Given the description of an element on the screen output the (x, y) to click on. 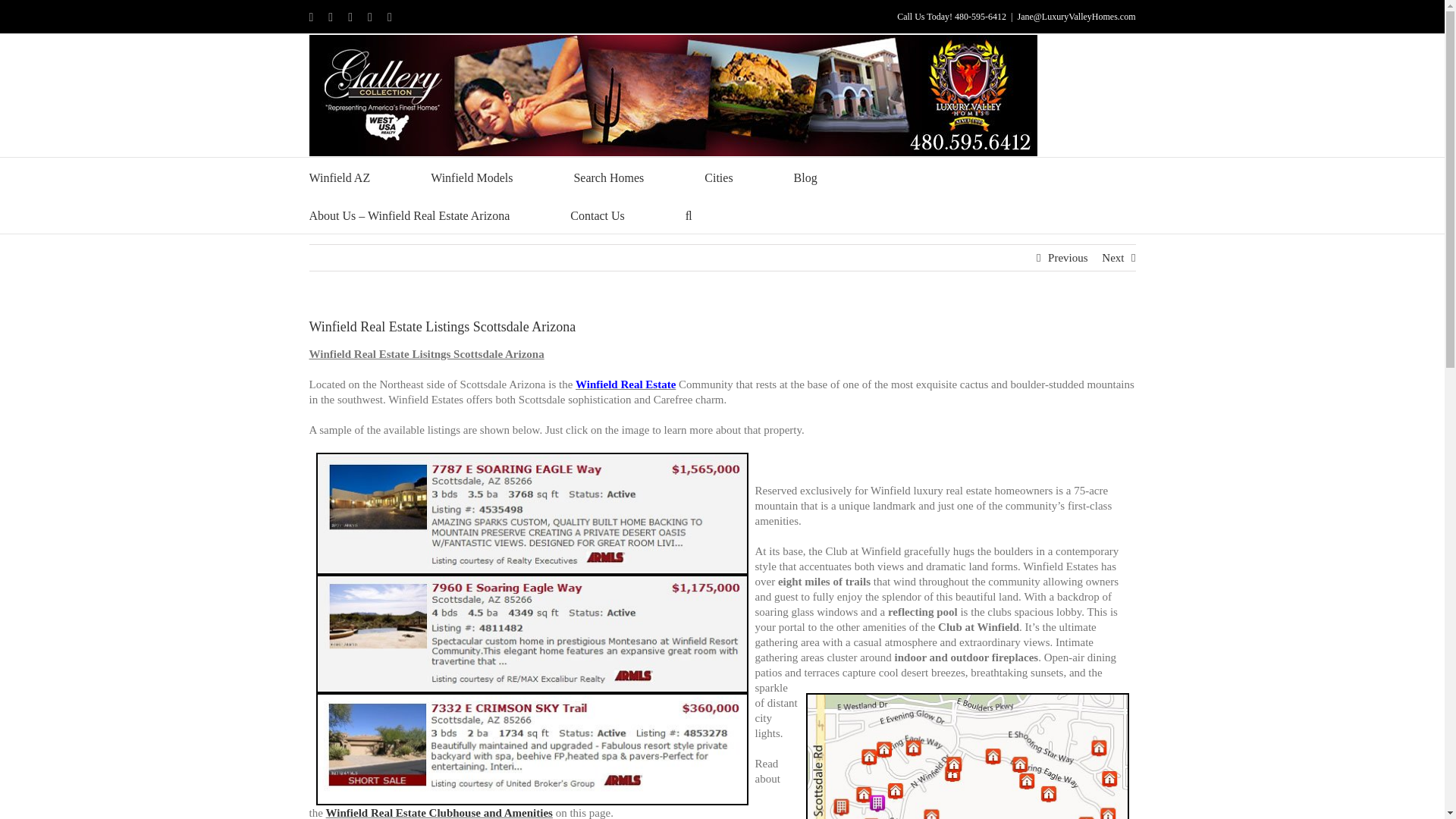
Winfield AZ (339, 176)
Winfield Real Estate Listings (966, 755)
Contact Us (597, 214)
7960 E Soaring Eagle Way Scottsdale Arizona (531, 633)
Winfield Estates Amenities (439, 812)
Search Homes (608, 176)
7787 E Soaring Eagle Way Scottsdale Arizona (531, 513)
Winfield Models (471, 176)
7332 E Crimson Sky Trail Scottsdale Arizona (531, 748)
